Given the description of an element on the screen output the (x, y) to click on. 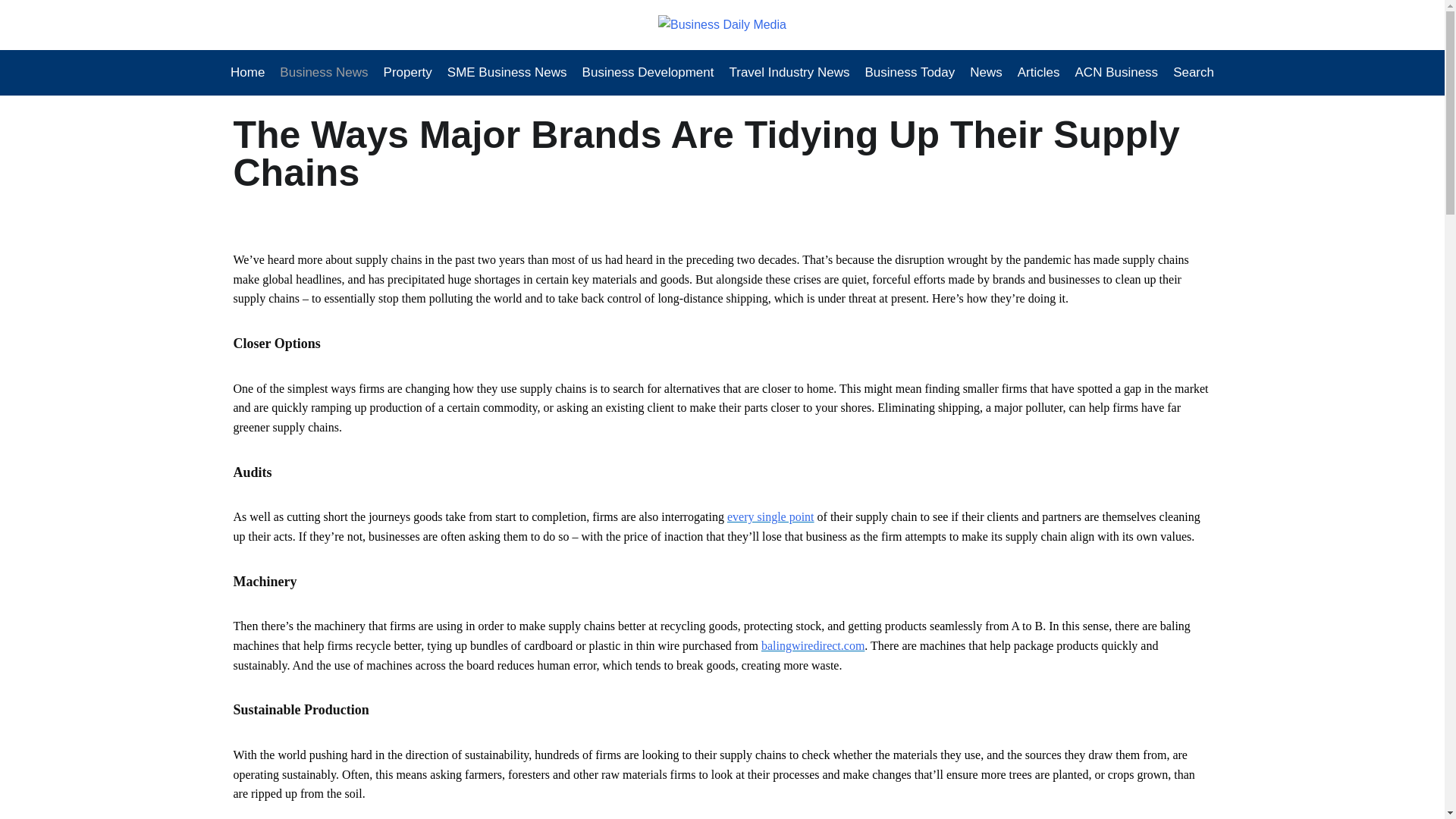
Articles (1038, 72)
SME Business News (507, 72)
Travel Industry News (788, 72)
balingwiredirect.com (812, 645)
every single point (769, 516)
Business News (323, 72)
News (986, 72)
Business Today (909, 72)
Business Development (648, 72)
Search (1190, 72)
